Given the description of an element on the screen output the (x, y) to click on. 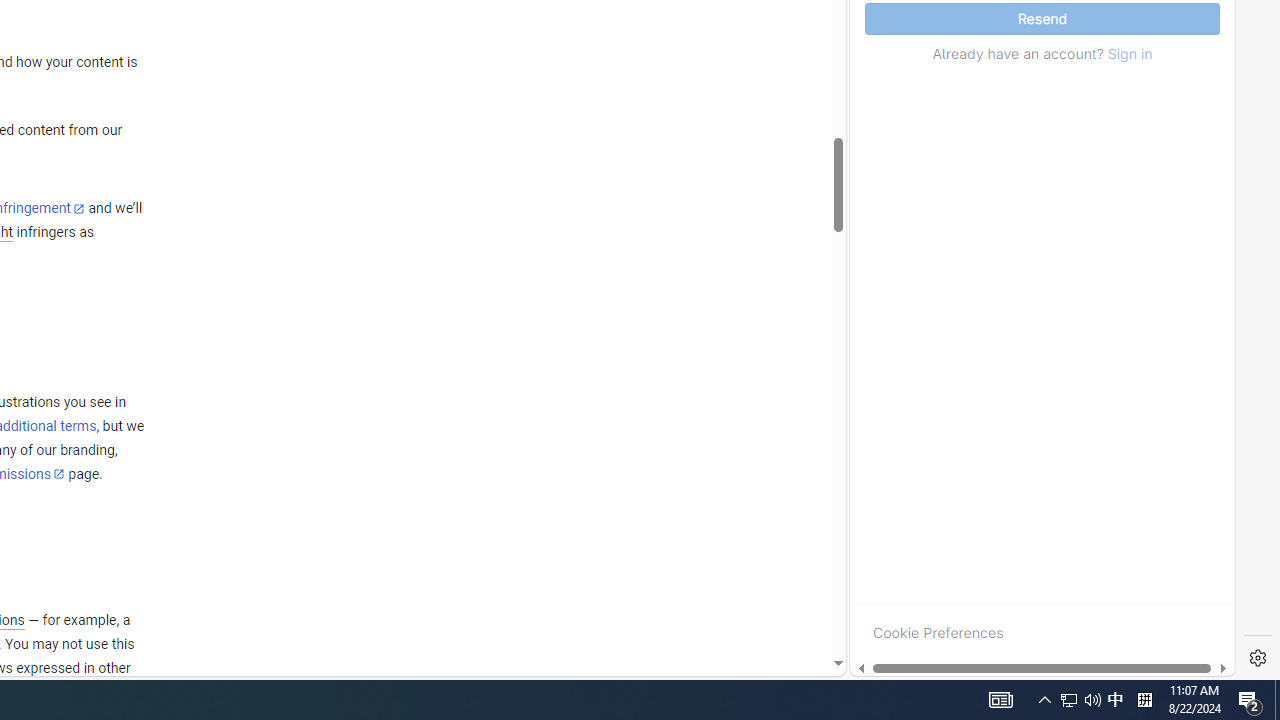
GitLab (966, 678)
View details (1145, 255)
Resend (1042, 19)
Cookie Preferences (938, 632)
View details (1145, 256)
